Given the description of an element on the screen output the (x, y) to click on. 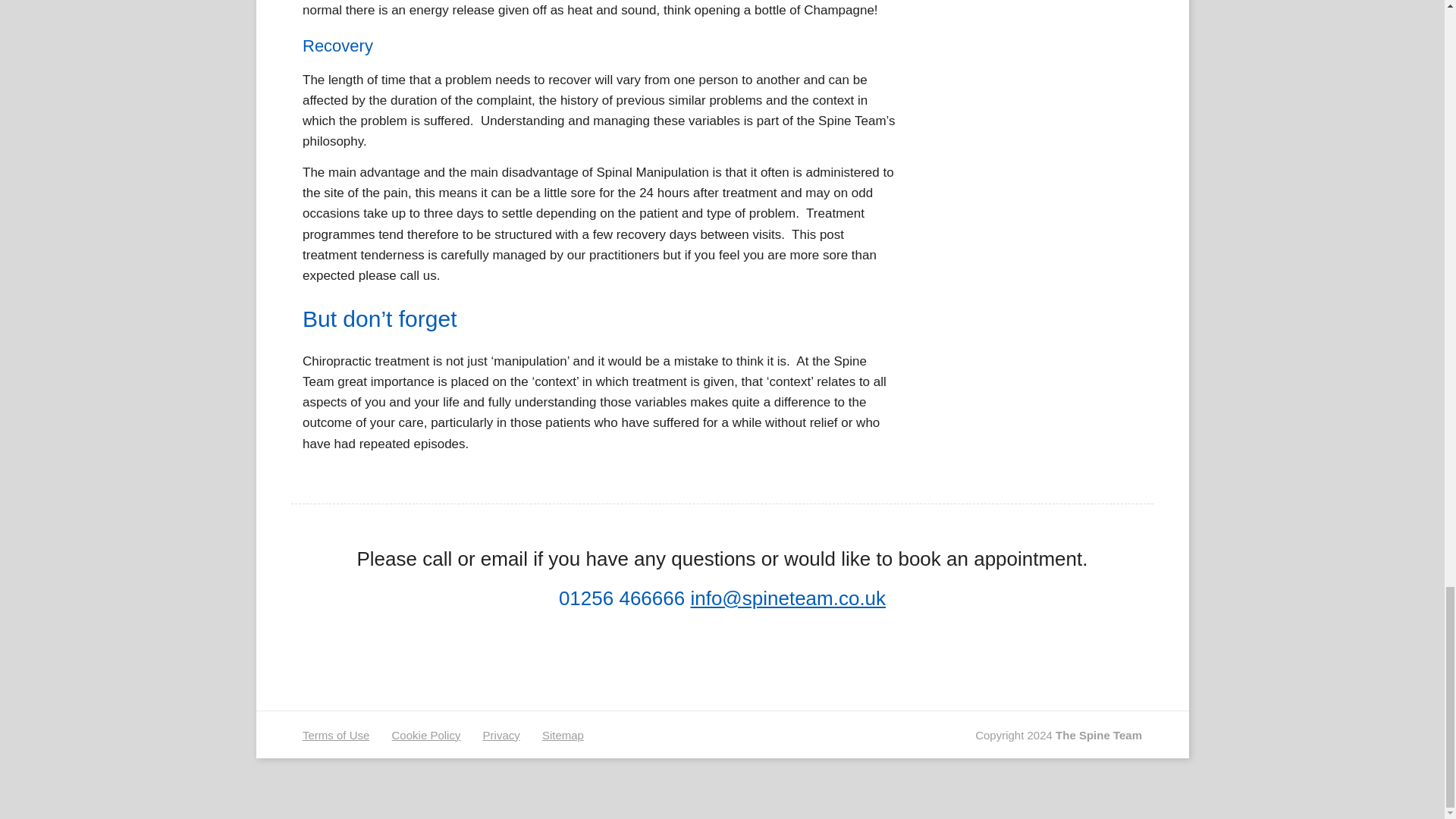
Cookie Policy (426, 735)
Terms of Use (335, 735)
Privacy (501, 735)
Sitemap (562, 735)
